Given the description of an element on the screen output the (x, y) to click on. 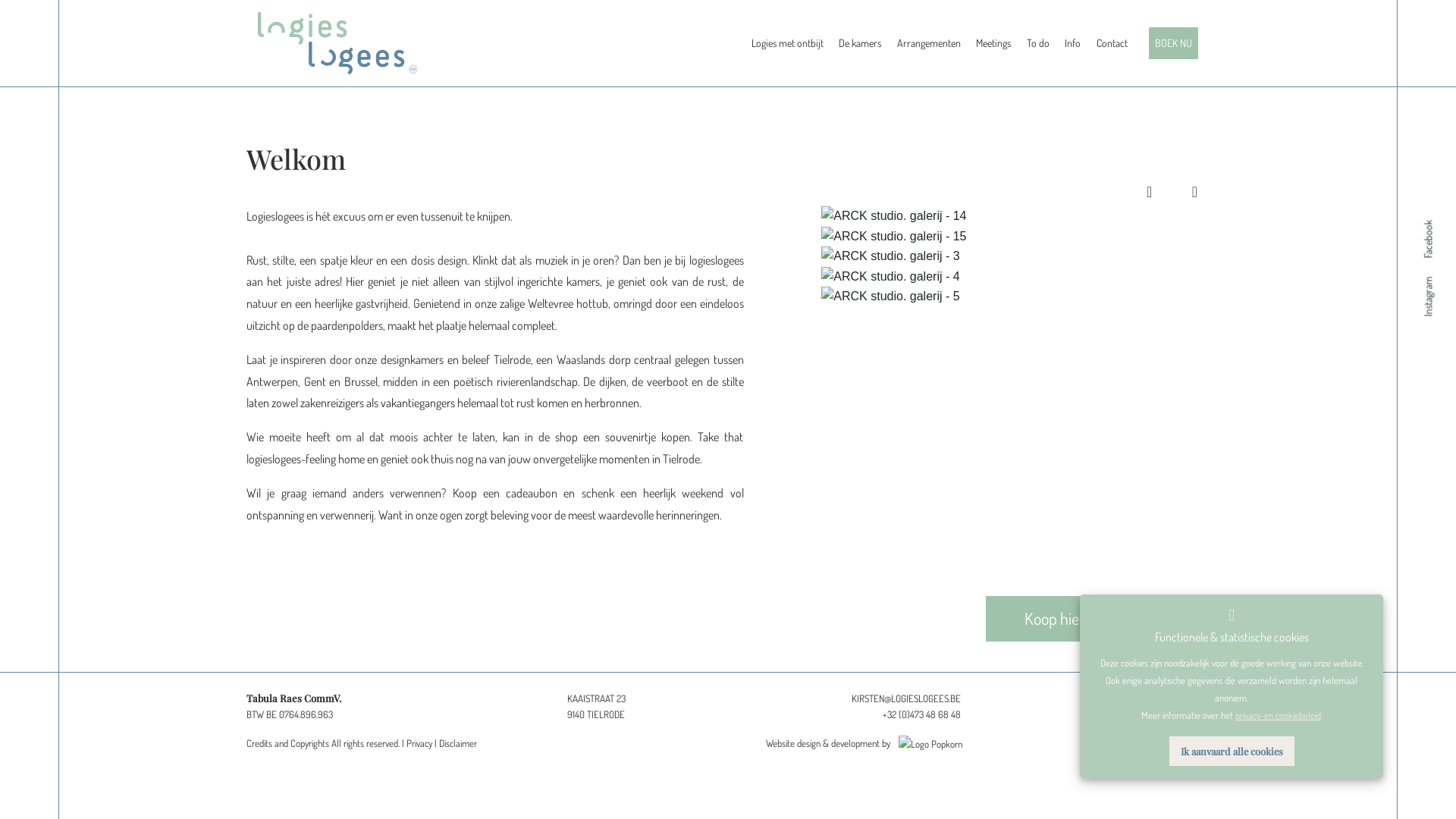
Info Element type: text (1072, 42)
+32 (0)473 48 68 48 Element type: text (921, 714)
Disclaimer Element type: text (457, 743)
Ik aanvaard alle cookies Element type: text (1231, 750)
De kamers Element type: text (859, 42)
Koop hier je cadeaubon Element type: text (1096, 617)
Arrangementen Element type: text (928, 42)
Privacy Element type: text (419, 743)
Logies met ontbijt Element type: text (787, 42)
Meetings Element type: text (992, 42)
Contact Element type: text (1111, 42)
privacy-en cookiebeleid Element type: text (1277, 715)
To do Element type: text (1037, 42)
KIRSTEN@LOGIESLOGEES.BE Element type: text (905, 698)
BOEK NU Element type: text (1173, 42)
